Given the description of an element on the screen output the (x, y) to click on. 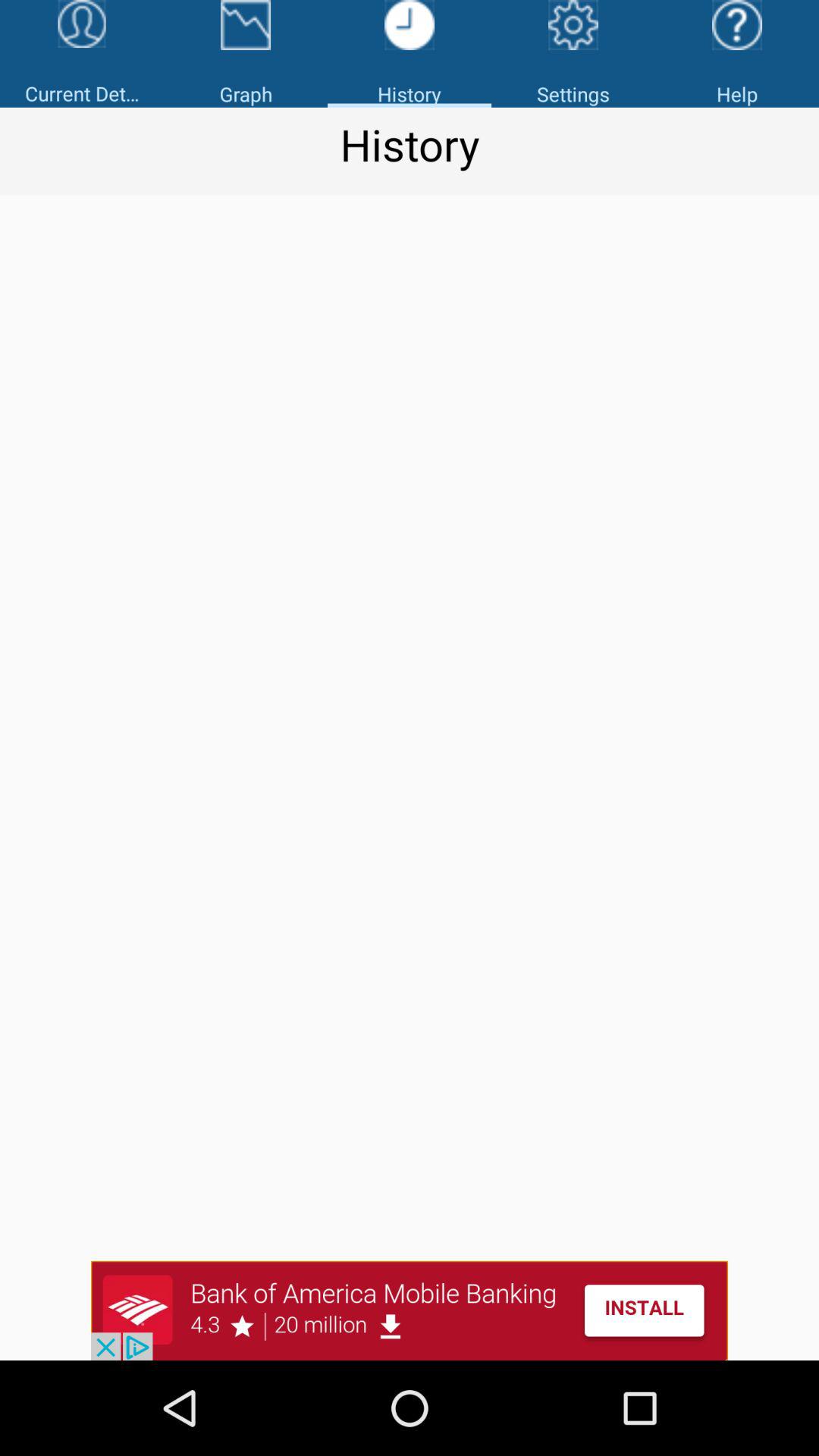
advertisement page (409, 1310)
